Given the description of an element on the screen output the (x, y) to click on. 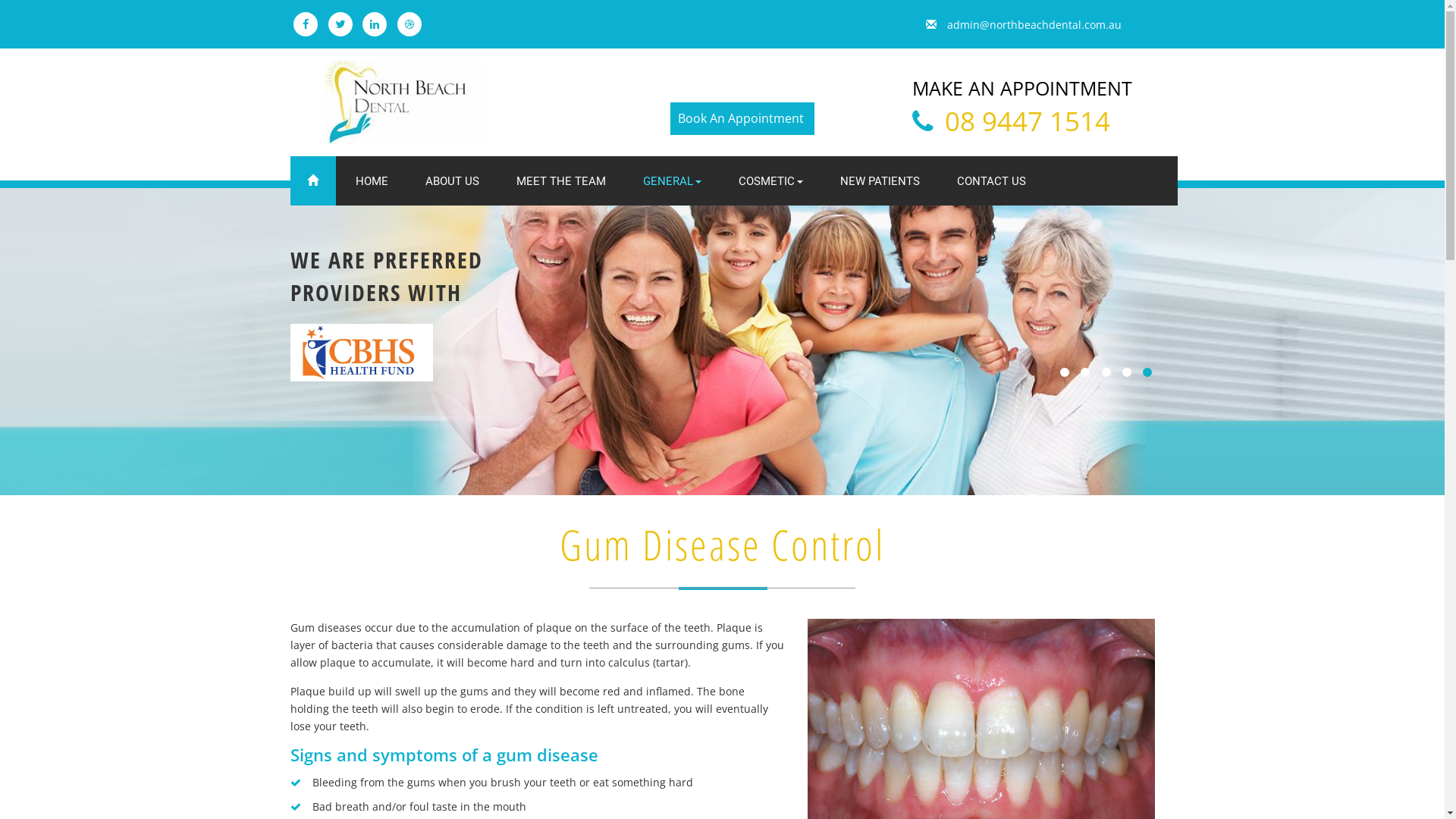
GENERAL Element type: text (672, 180)
admin@northbeachdental.com.au Element type: text (1023, 24)
NEW PATIENTS Element type: text (880, 180)
HOME Element type: text (371, 180)
ABOUT US Element type: text (451, 180)
MEET THE TEAM Element type: text (560, 180)
MAKE AN APPOINTMENT Element type: text (1022, 87)
COSMETIC Element type: text (770, 180)
CONTACT US Element type: text (991, 180)
Book An Appointment Element type: text (740, 117)
  Element type: text (672, 87)
